Given the description of an element on the screen output the (x, y) to click on. 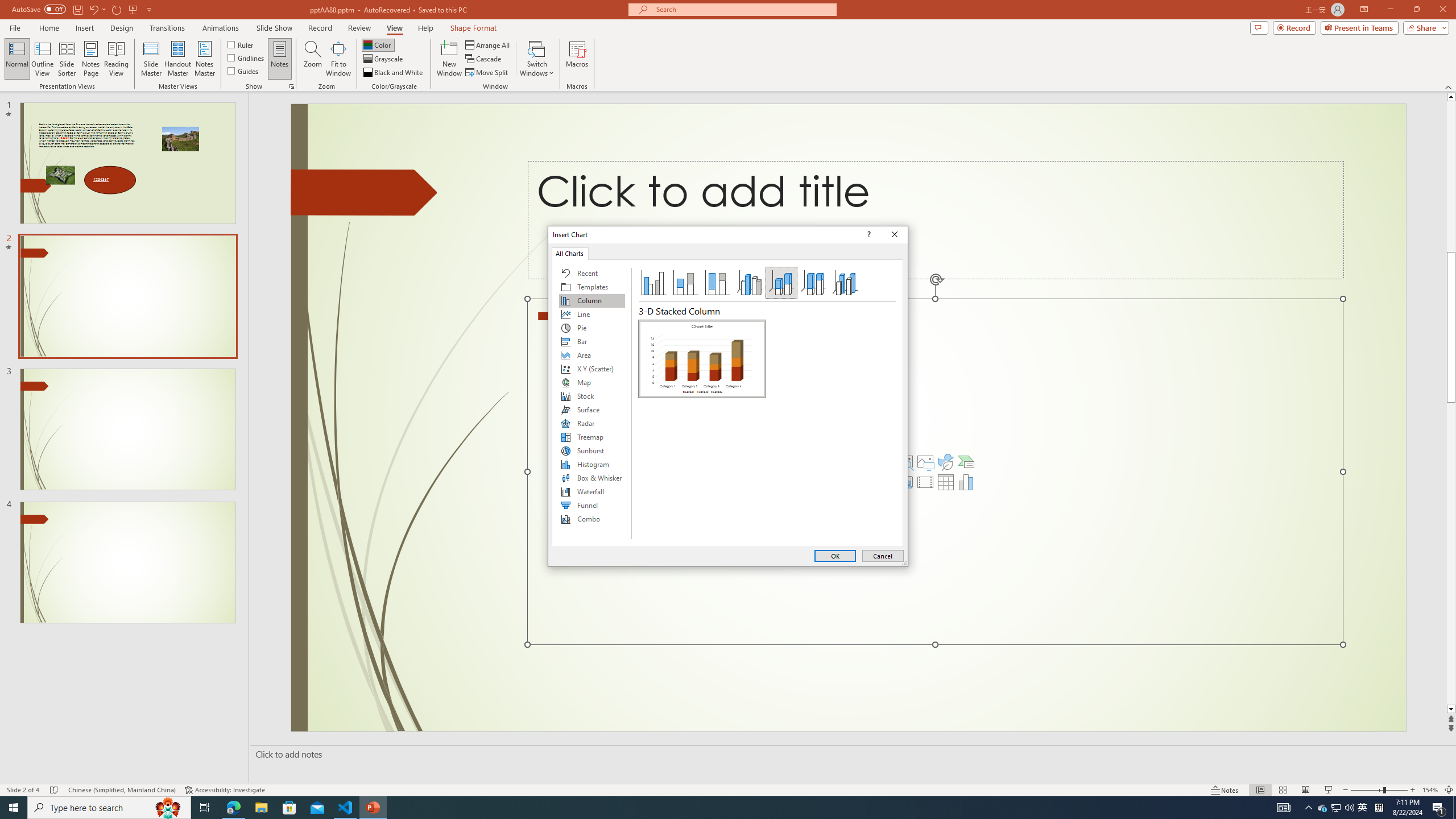
OK (834, 555)
3-D Stacked Column (701, 358)
Chart Types (591, 403)
Sunburst (591, 450)
Notes (279, 58)
Box & Whisker (591, 477)
Macros (576, 58)
